Given the description of an element on the screen output the (x, y) to click on. 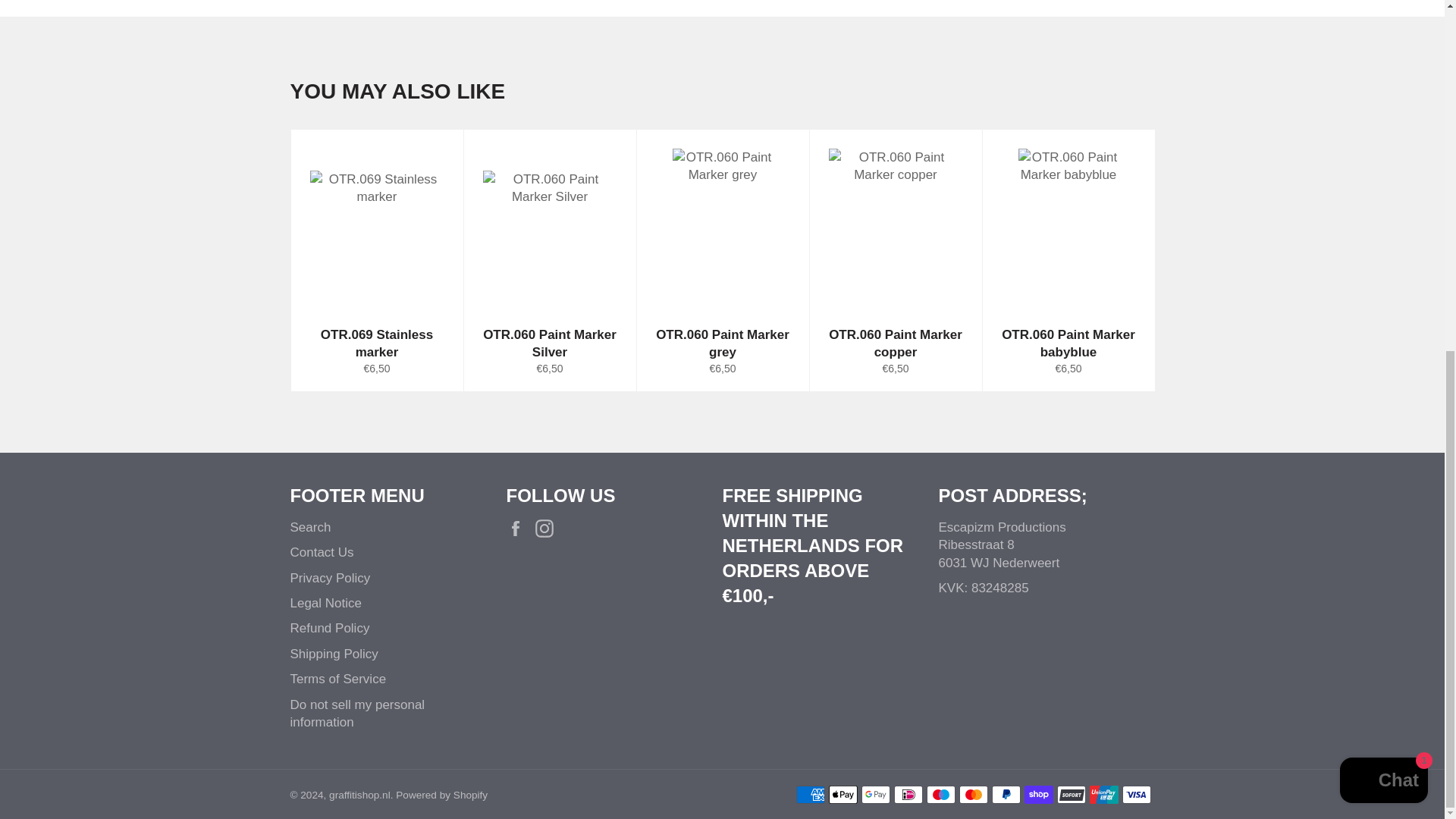
graffitishop.nl on Instagram (547, 527)
Shopify online store chat (1383, 171)
graffitishop.nl on Facebook (519, 527)
